Given the description of an element on the screen output the (x, y) to click on. 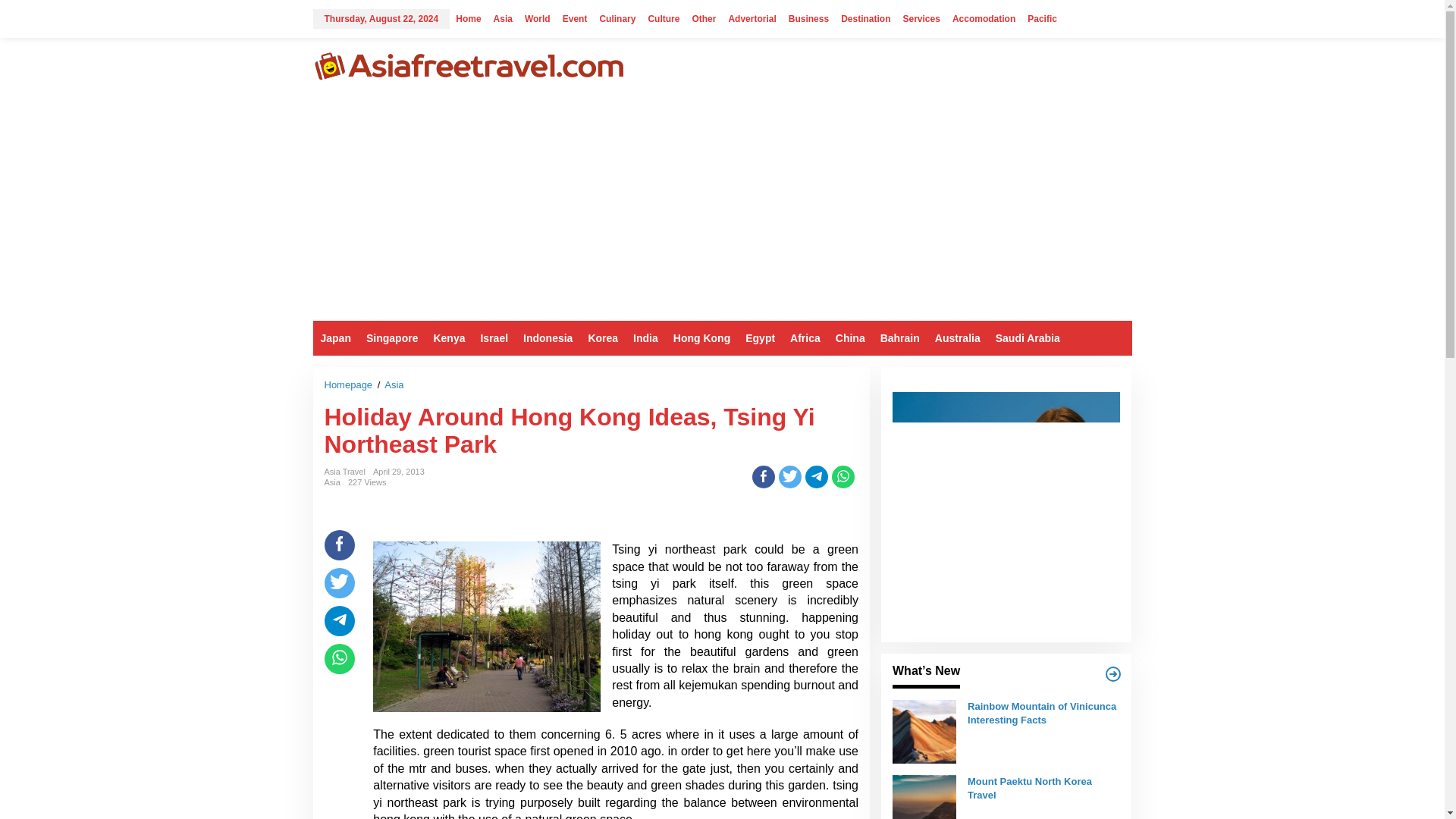
Japan (335, 338)
Korea (602, 338)
Advertorial (751, 18)
Asia Free Travel (468, 64)
Services (920, 18)
Permalink to: Asia Travel (344, 470)
Culture (663, 18)
Tweet this (790, 477)
Bahrain (899, 338)
Culinary (617, 18)
